Given the description of an element on the screen output the (x, y) to click on. 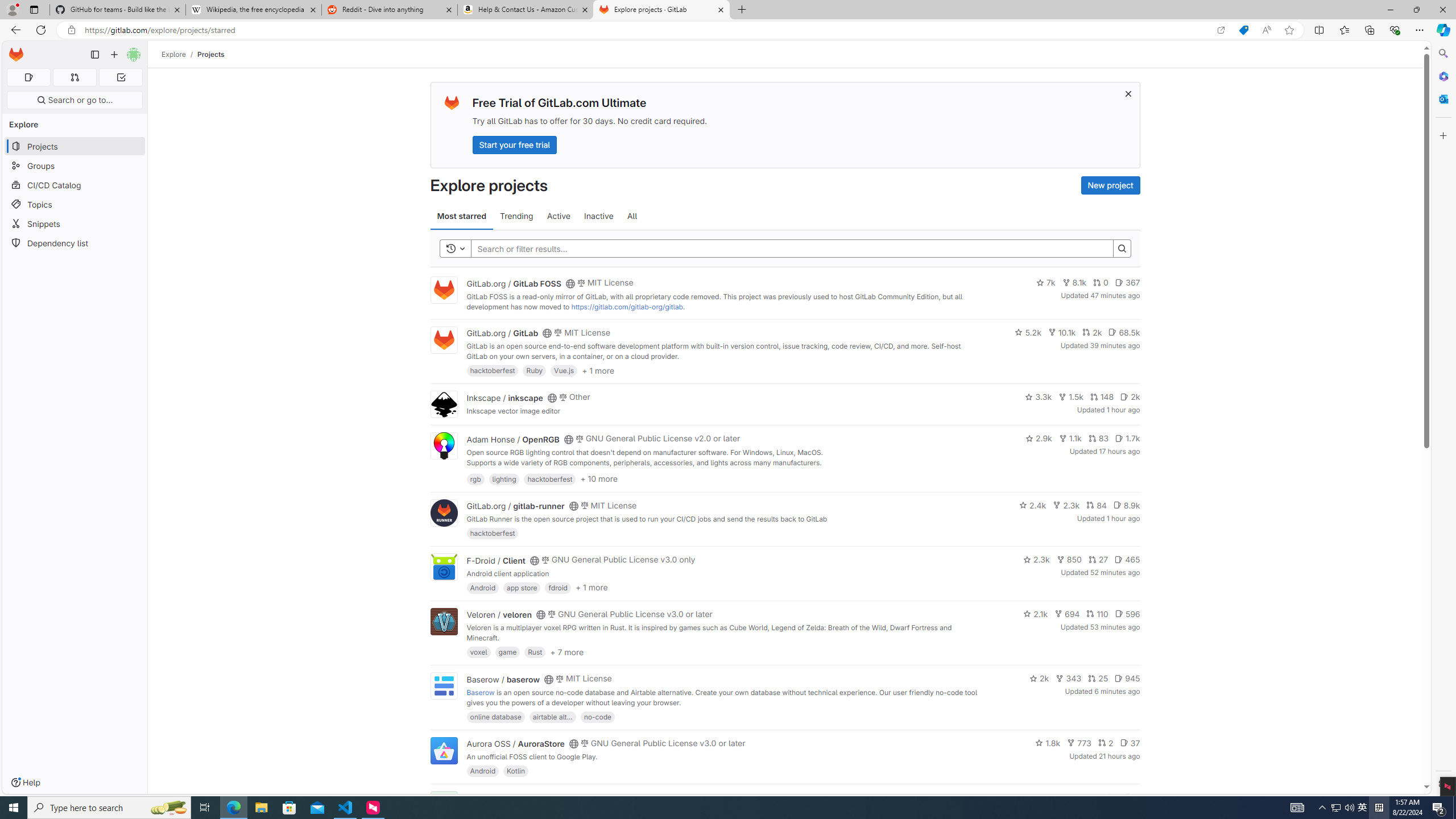
Edouard Klein / falsisign (512, 797)
Aurora OSS / AuroraStore (514, 743)
Class: project (443, 750)
143 (1085, 797)
Baserow / baserow (502, 678)
Assigned issues 0 (28, 76)
37 (1129, 742)
2k (1039, 678)
Projects (211, 53)
airtable alt... (552, 715)
27 (1097, 559)
